Given the description of an element on the screen output the (x, y) to click on. 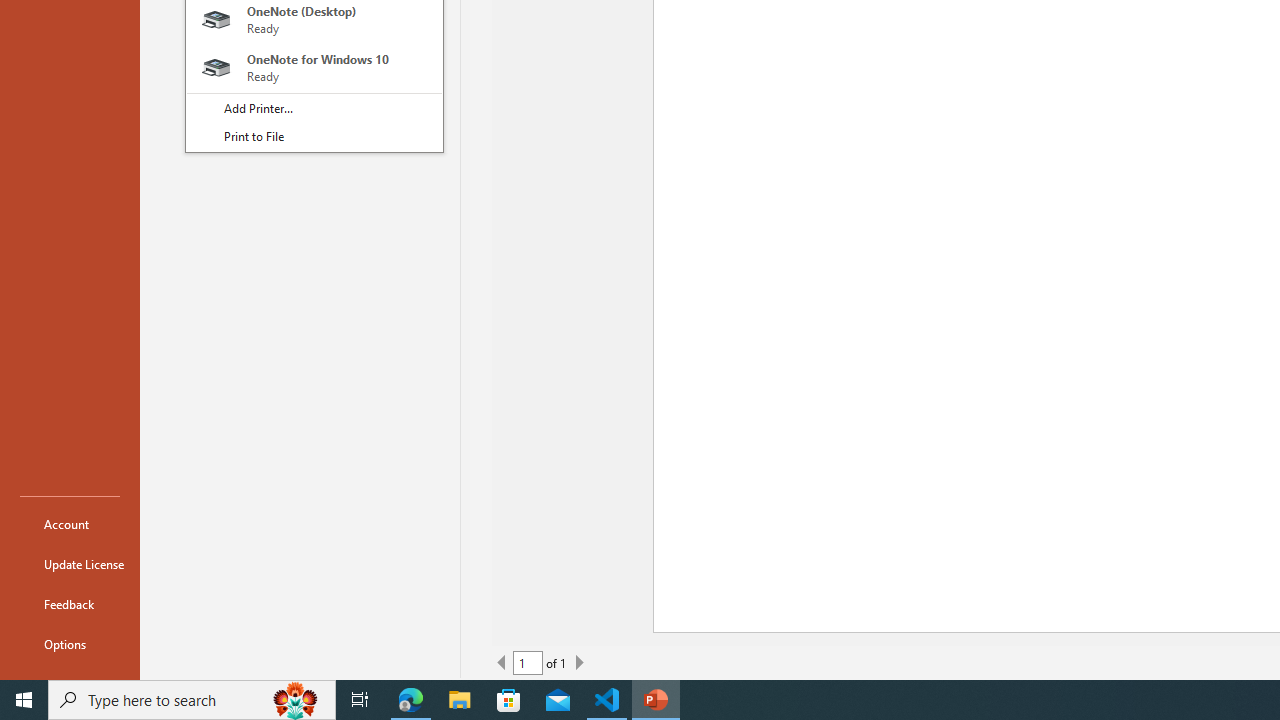
Update License (69, 563)
Current Page (527, 662)
Options (69, 643)
Feedback (69, 603)
Next Page (579, 662)
